Given the description of an element on the screen output the (x, y) to click on. 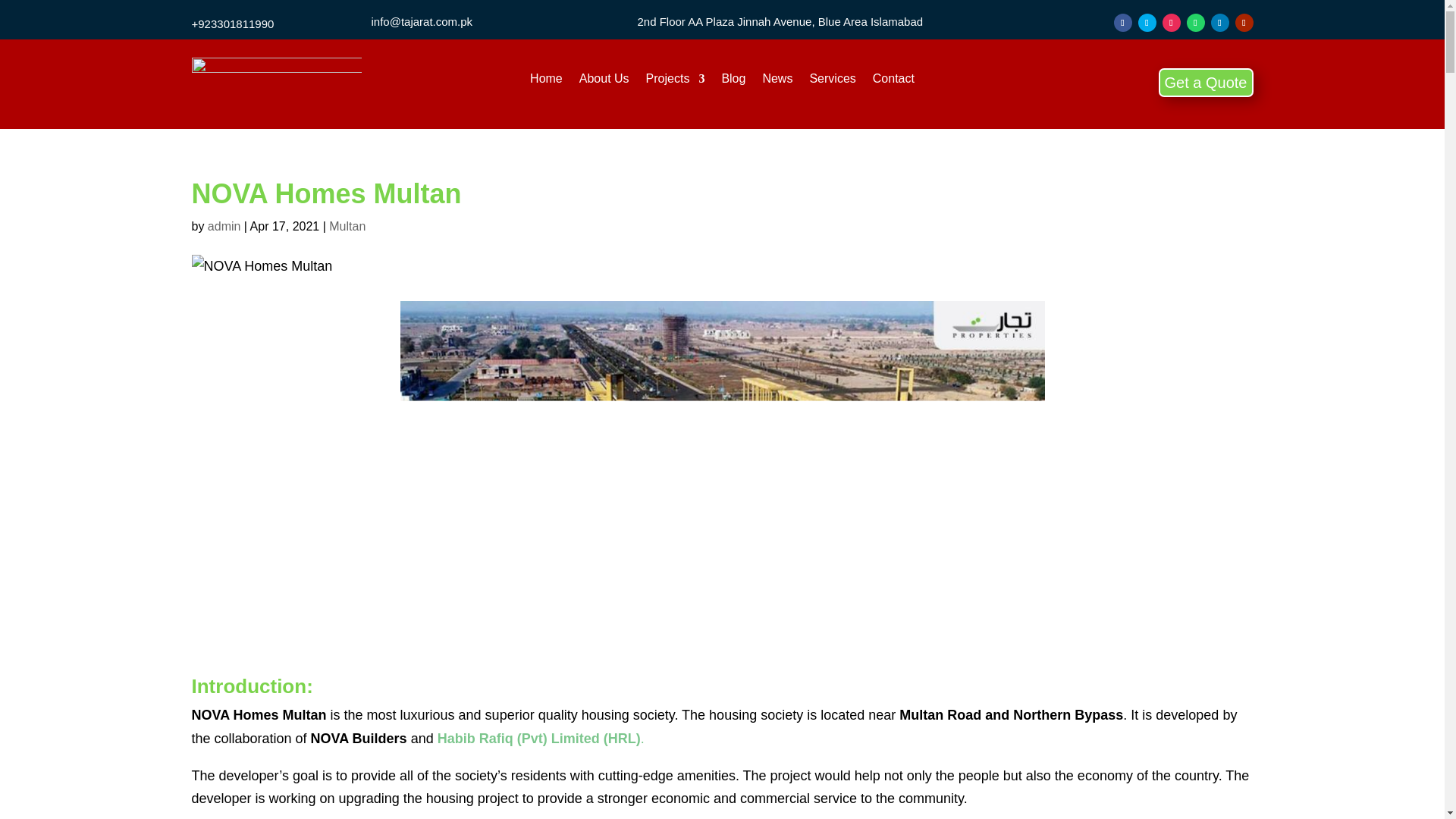
Contact (893, 81)
Follow on Youtube (1243, 22)
admin (224, 226)
Multan (347, 226)
About Us (603, 81)
News (776, 81)
Follow on Twitter (1146, 22)
Get a Quote (1205, 82)
tajarat-logo (275, 85)
Follow on LinkedIn (1218, 22)
